Given the description of an element on the screen output the (x, y) to click on. 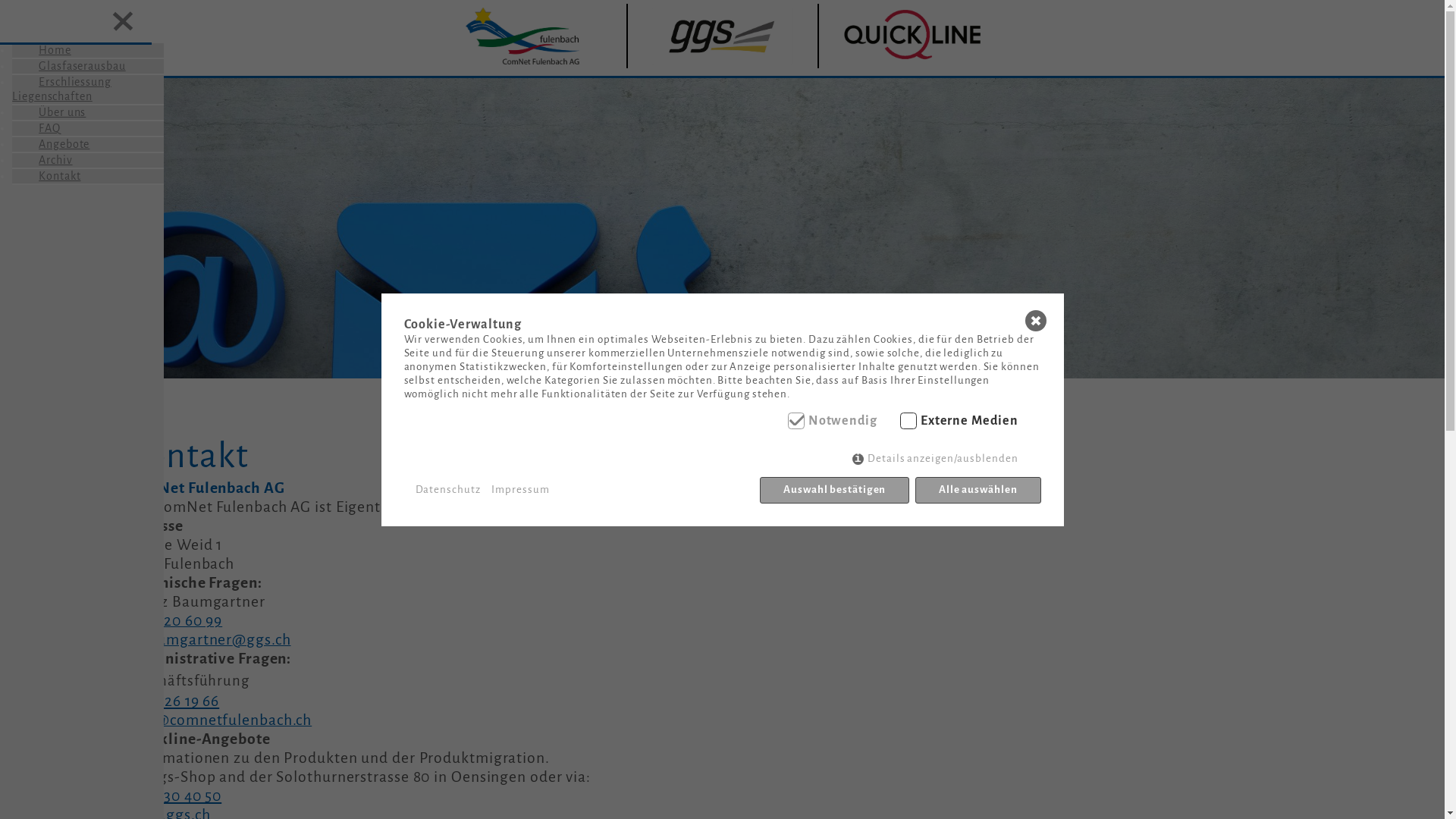
h.baumgartner@ggs.ch Element type: text (209, 640)
FAQ Element type: text (36, 128)
Datenschutz Element type: text (447, 489)
062 530 40 50 Element type: text (174, 795)
Kontakt Element type: text (46, 175)
079 220 60 99 Element type: text (174, 621)
Impressum Element type: text (520, 489)
Angebote Element type: text (50, 144)
Home Element type: text (41, 49)
Details anzeigen/ausblenden Element type: text (934, 457)
Archiv Element type: text (42, 159)
info@comnetfulenbach.ch Element type: text (219, 721)
Glasfaserausbau Element type: text (68, 65)
Erschliessung Liegenschaften Element type: text (61, 88)
062 926 19 66 Element type: text (173, 701)
